Given the description of an element on the screen output the (x, y) to click on. 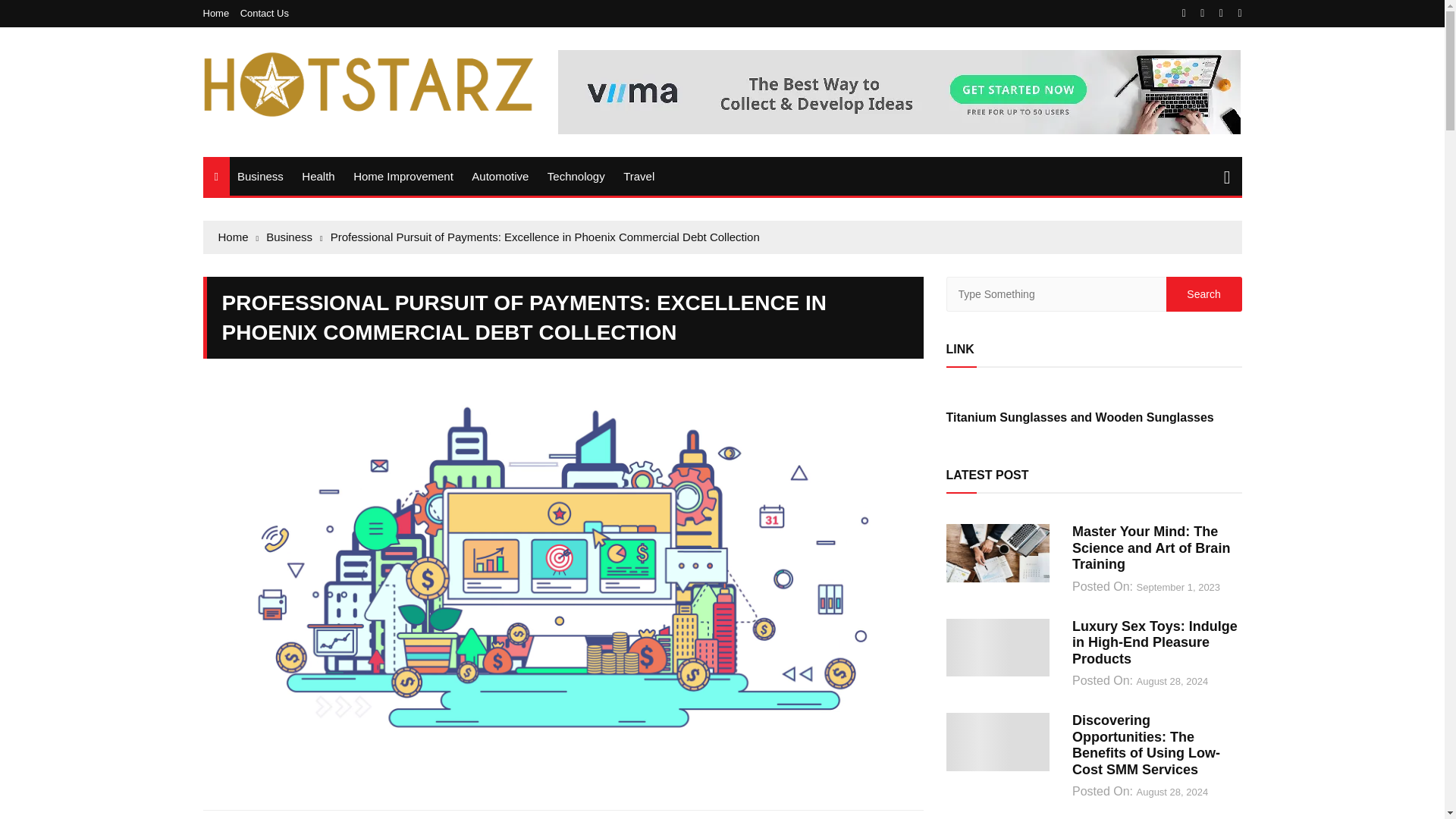
Home (220, 13)
Automotive (499, 176)
Contact Us (264, 13)
Search (1203, 294)
Health (318, 176)
Travel (638, 176)
Home Improvement (403, 176)
Technology (576, 176)
Business (260, 176)
